Given the description of an element on the screen output the (x, y) to click on. 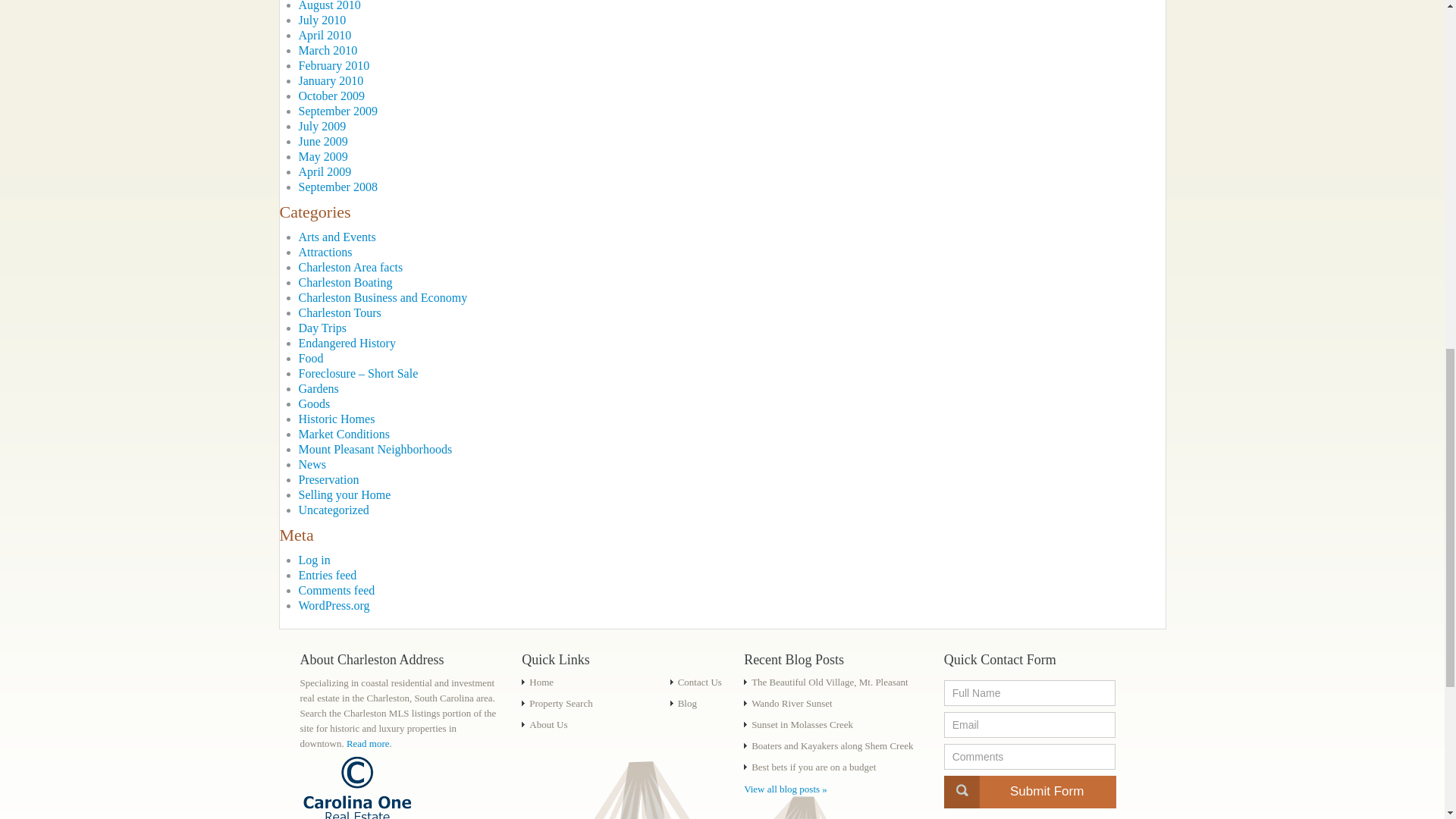
Submit Form (1029, 791)
